Given the description of an element on the screen output the (x, y) to click on. 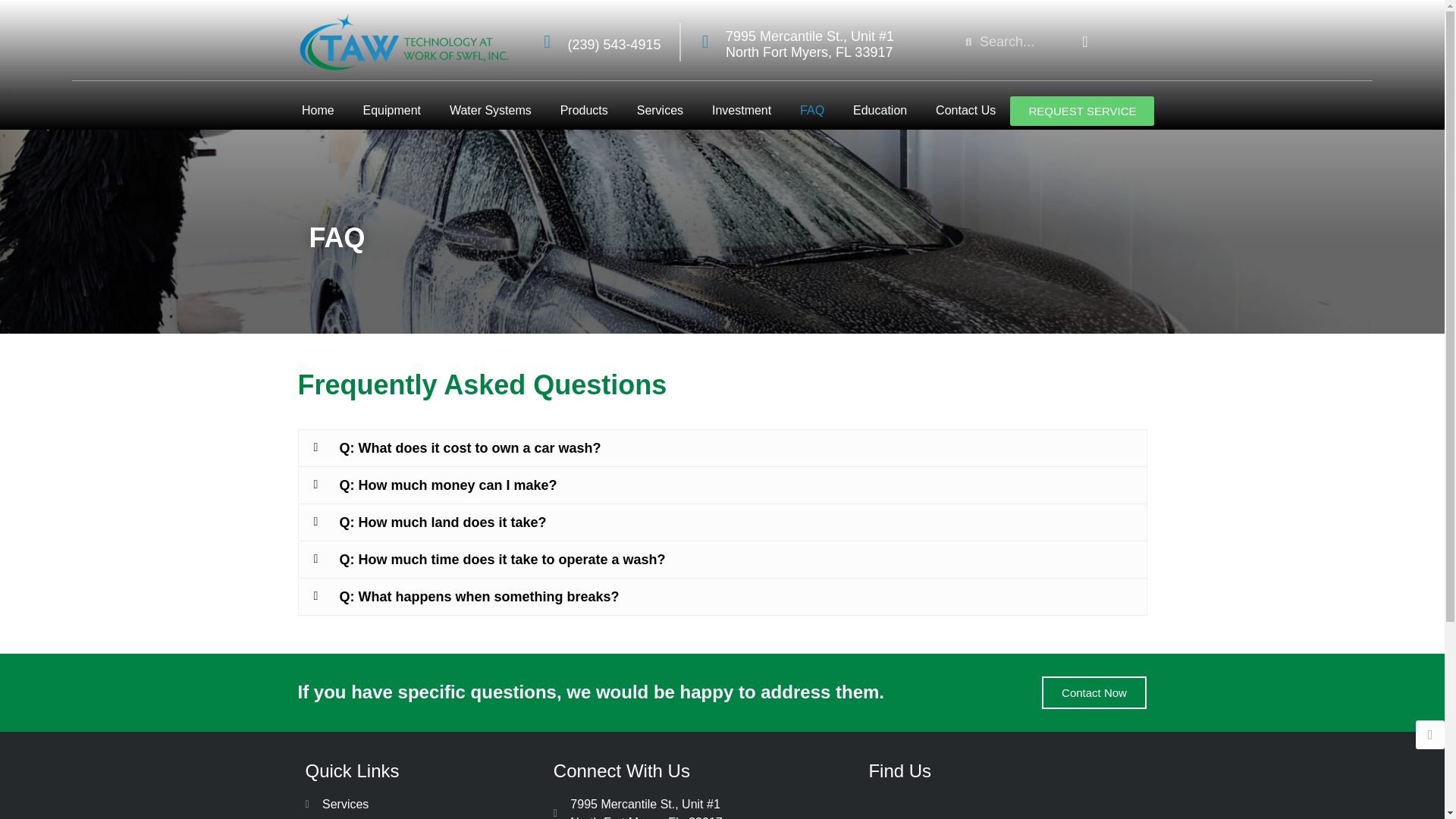
Water Systems (490, 110)
Investment (741, 110)
Contact Us (965, 110)
Home (317, 110)
Services (659, 110)
Education (879, 110)
Products (584, 110)
REQUEST SERVICE (1082, 111)
FAQ (812, 110)
Equipment (391, 110)
